Given the description of an element on the screen output the (x, y) to click on. 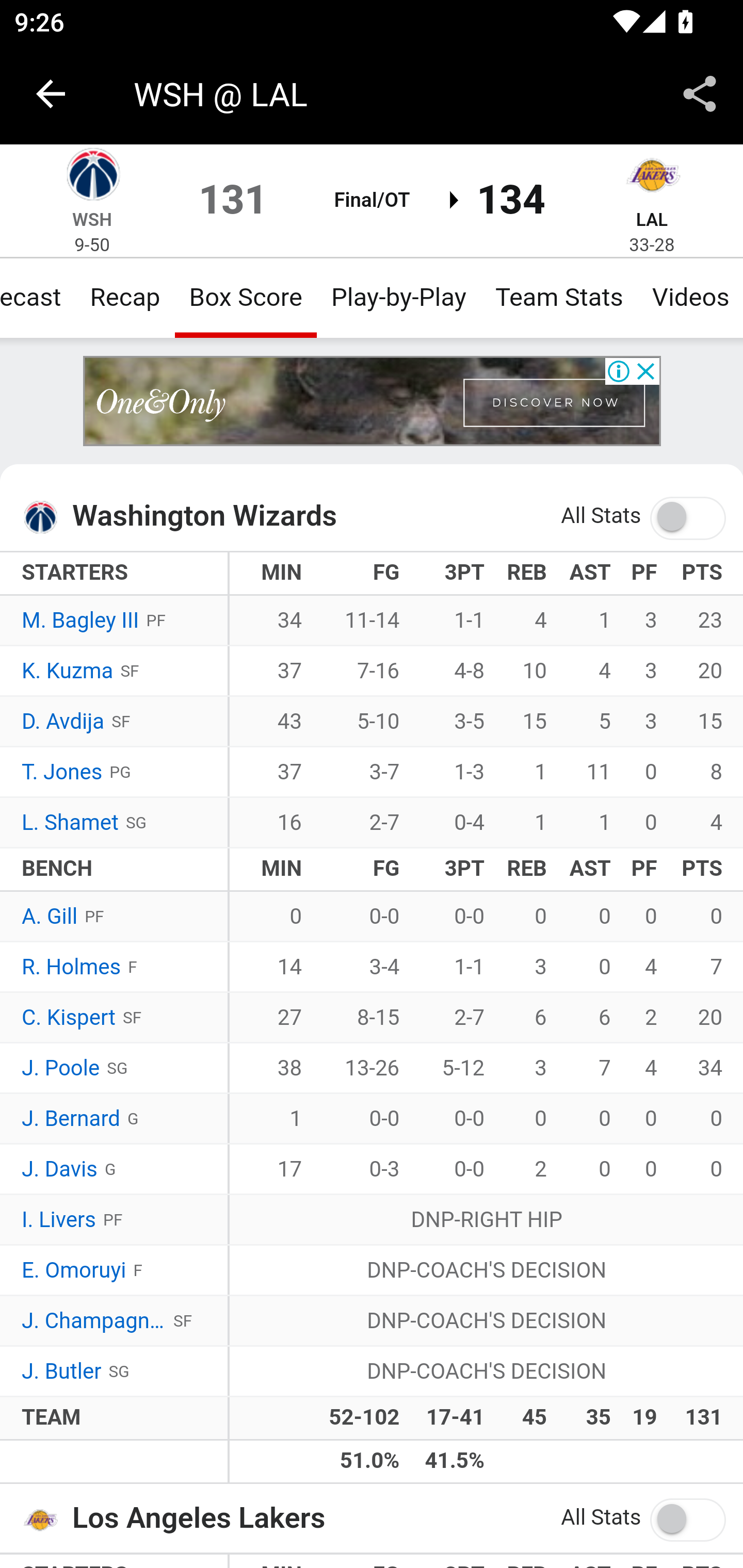
Navigate up (50, 93)
Share (699, 93)
Washington Wizards (91, 177)
Los Angeles Lakers (651, 177)
WSH (92, 219)
LAL (652, 219)
Gamecast (37, 296)
Recap (123, 296)
Box Score (245, 296)
Play-by-Play (398, 296)
Team Stats (559, 296)
Videos (689, 296)
Washington Wizards (46, 517)
M. Bagley III (81, 621)
K. Kuzma (67, 671)
D. Avdija (63, 722)
T. Jones (61, 772)
L. Shamet (69, 823)
A. Gill (50, 916)
R. Holmes (71, 968)
C. Kispert (68, 1018)
J. Poole (61, 1068)
J. Bernard (70, 1118)
J. Davis (59, 1170)
I. Livers (59, 1220)
E. Omoruyi (73, 1270)
J. Champagnie (94, 1321)
J. Butler (61, 1371)
Los Angeles Lakers (46, 1518)
